Given the description of an element on the screen output the (x, y) to click on. 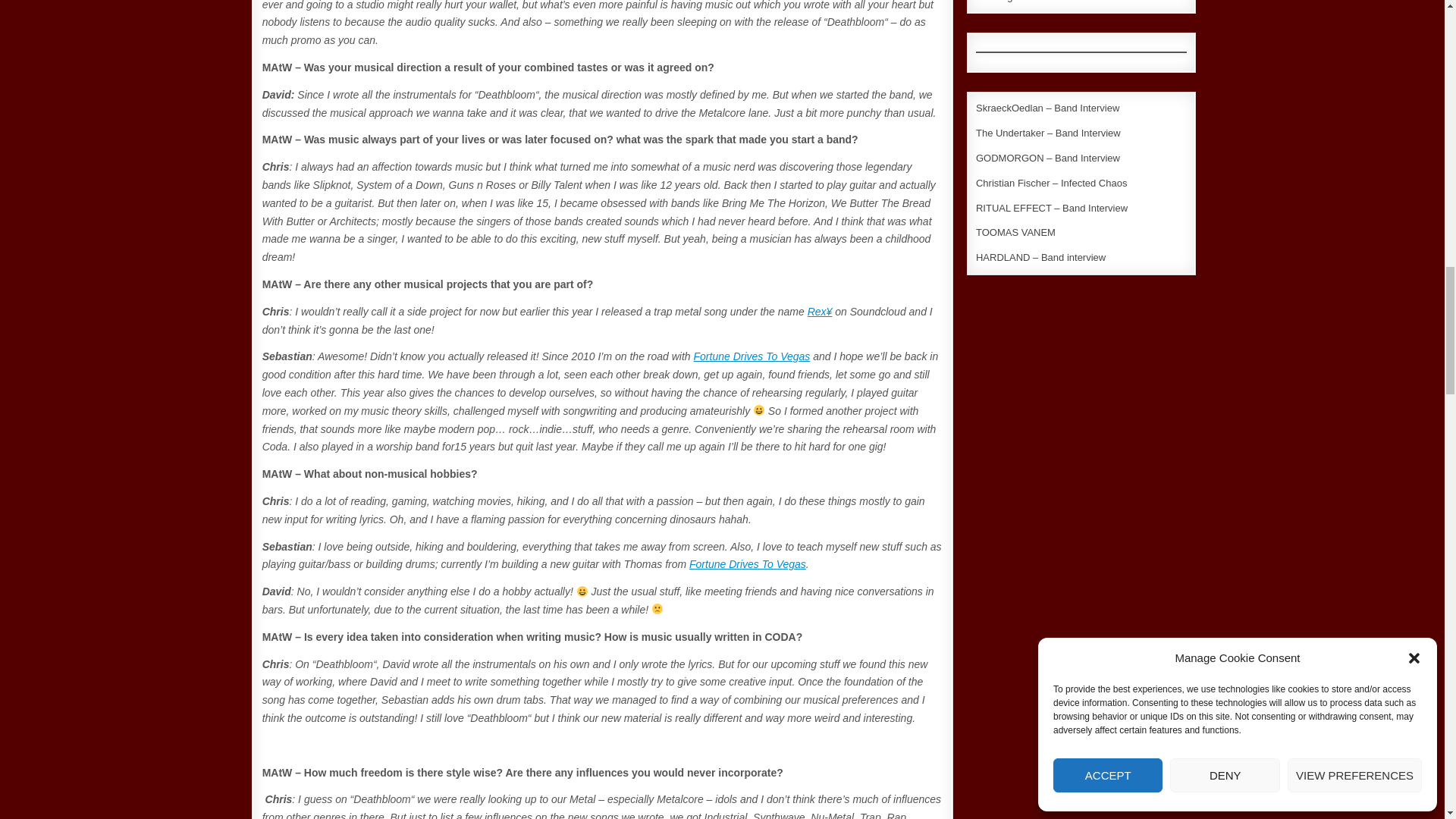
Fortune Drives To Vegas (747, 563)
Fortune Drives To Vegas (752, 356)
